Given the description of an element on the screen output the (x, y) to click on. 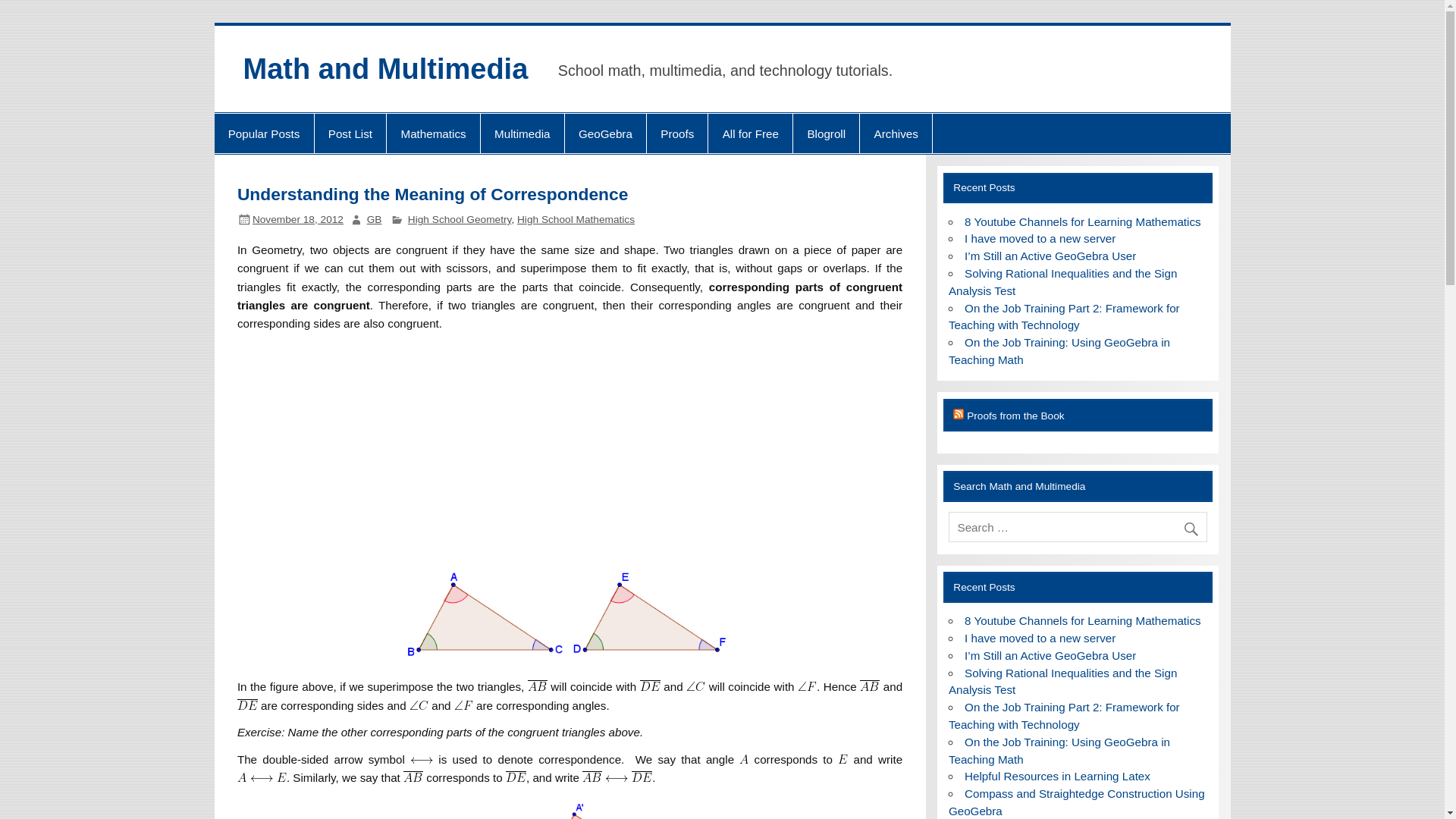
Math and Multimedia (385, 69)
8 Youtube Channels for Learning Mathematics (1082, 620)
Popular Posts (263, 133)
Multimedia (522, 133)
High School Geometry (459, 219)
Archives (895, 133)
Solving Rational Inequalities and the Sign Analysis Test (1063, 681)
Solving Rational Inequalities and the Sign Analysis Test (1063, 281)
I have moved to a new server (1039, 637)
November 18, 2012 (297, 219)
On the Job Training: Using GeoGebra in Teaching Math (1059, 350)
GeoGebra (605, 133)
Proofs from the Book (1015, 415)
10:28 am (297, 219)
All for Free (749, 133)
